Given the description of an element on the screen output the (x, y) to click on. 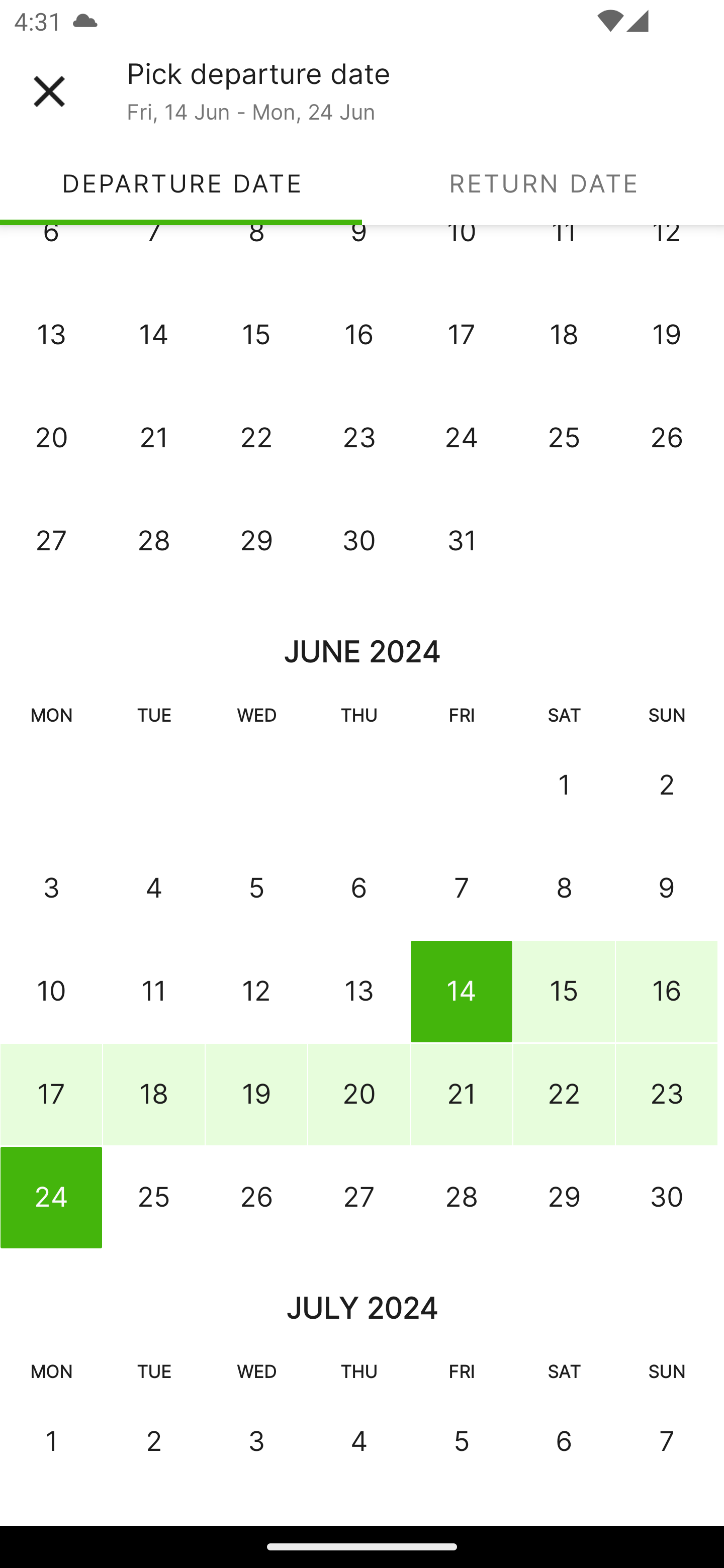
Return Date RETURN DATE (543, 183)
